Given the description of an element on the screen output the (x, y) to click on. 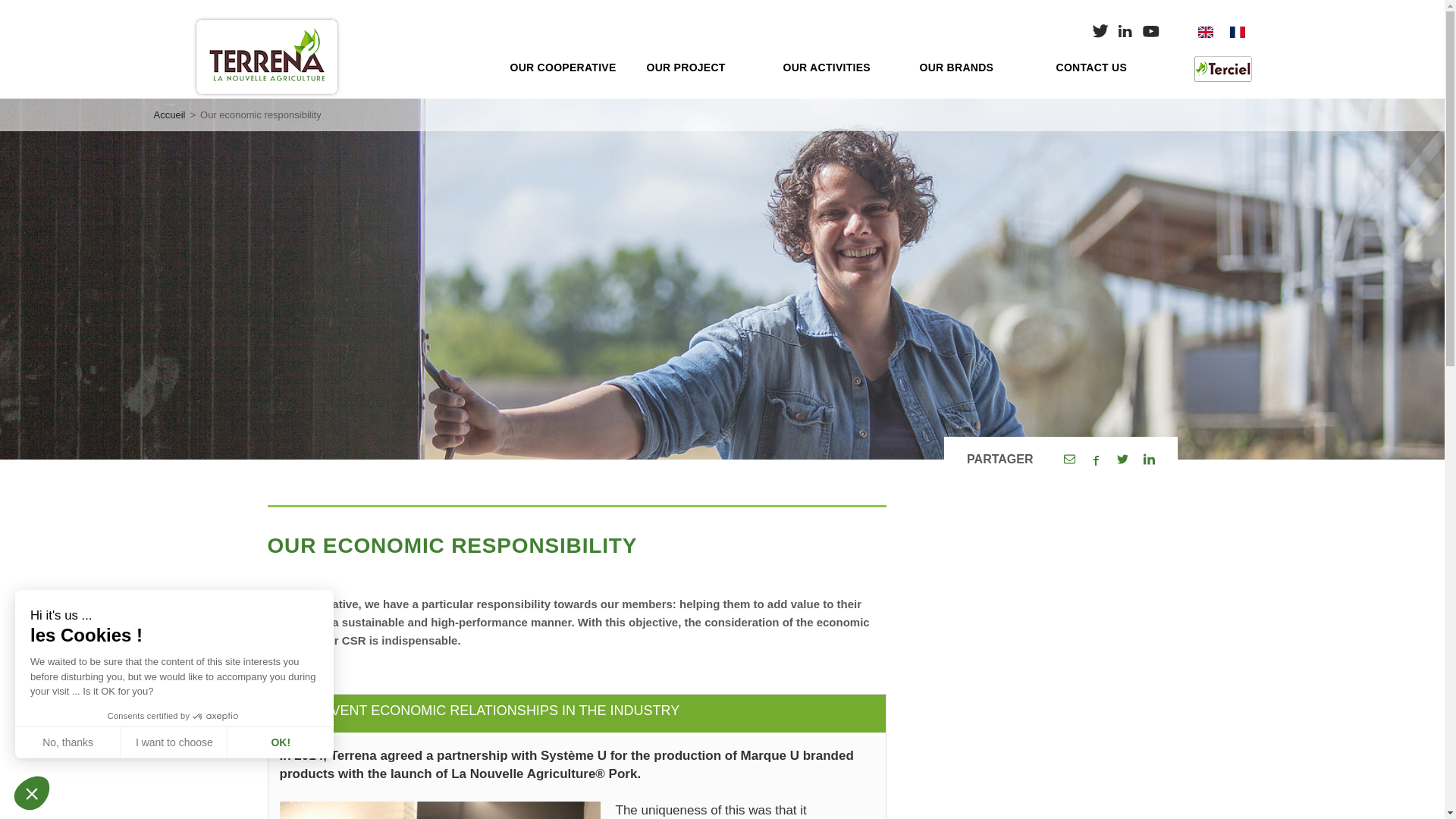
0 (101, 765)
I want to choose (173, 742)
OUR PROJECT (703, 67)
Accueil (168, 114)
Share on Facebook (1096, 459)
OUR ACTIVITIES (839, 67)
OK! (280, 742)
Send by email (1068, 459)
CONTACT US (1112, 67)
OUR BRANDS (975, 67)
No, thanks (67, 742)
Tweet (1121, 459)
OUR COOPERATIVE (566, 67)
Consents certified by (174, 716)
Share on Linkedin (1148, 459)
